Given the description of an element on the screen output the (x, y) to click on. 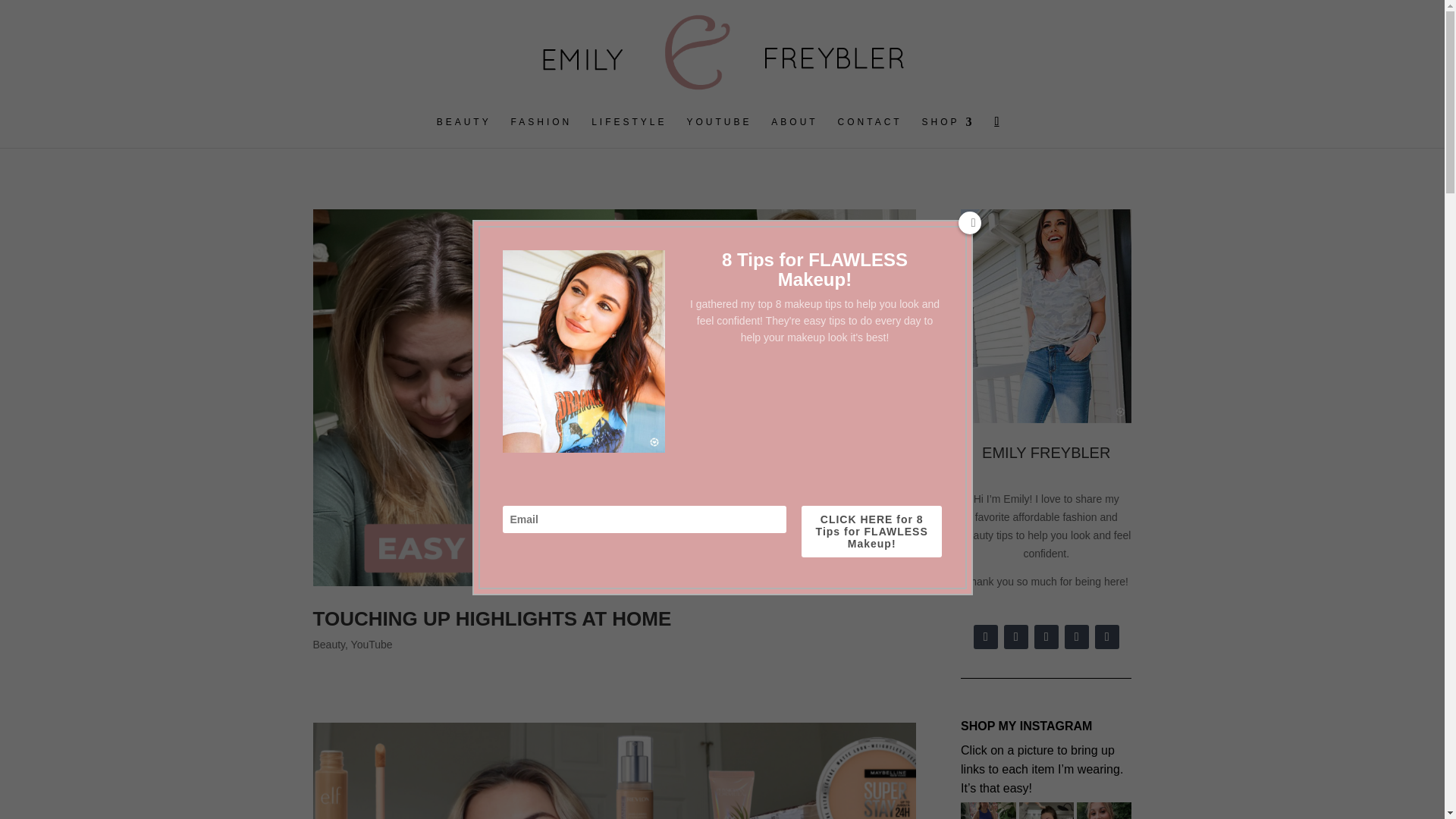
FASHION (541, 132)
Follow on Youtube (1015, 636)
TOUCHING UP HIGHLIGHTS AT HOME (492, 618)
CONTACT (870, 132)
YouTube (371, 644)
Beauty (329, 644)
Follow on Pinterest (1076, 636)
Follow on Twitter (1106, 636)
BEAUTY (464, 132)
SHOP (948, 132)
ABOUT (793, 132)
Follow on Facebook (1045, 636)
YOUTUBE (718, 132)
Follow on Instagram (985, 636)
read more (614, 668)
